Given the description of an element on the screen output the (x, y) to click on. 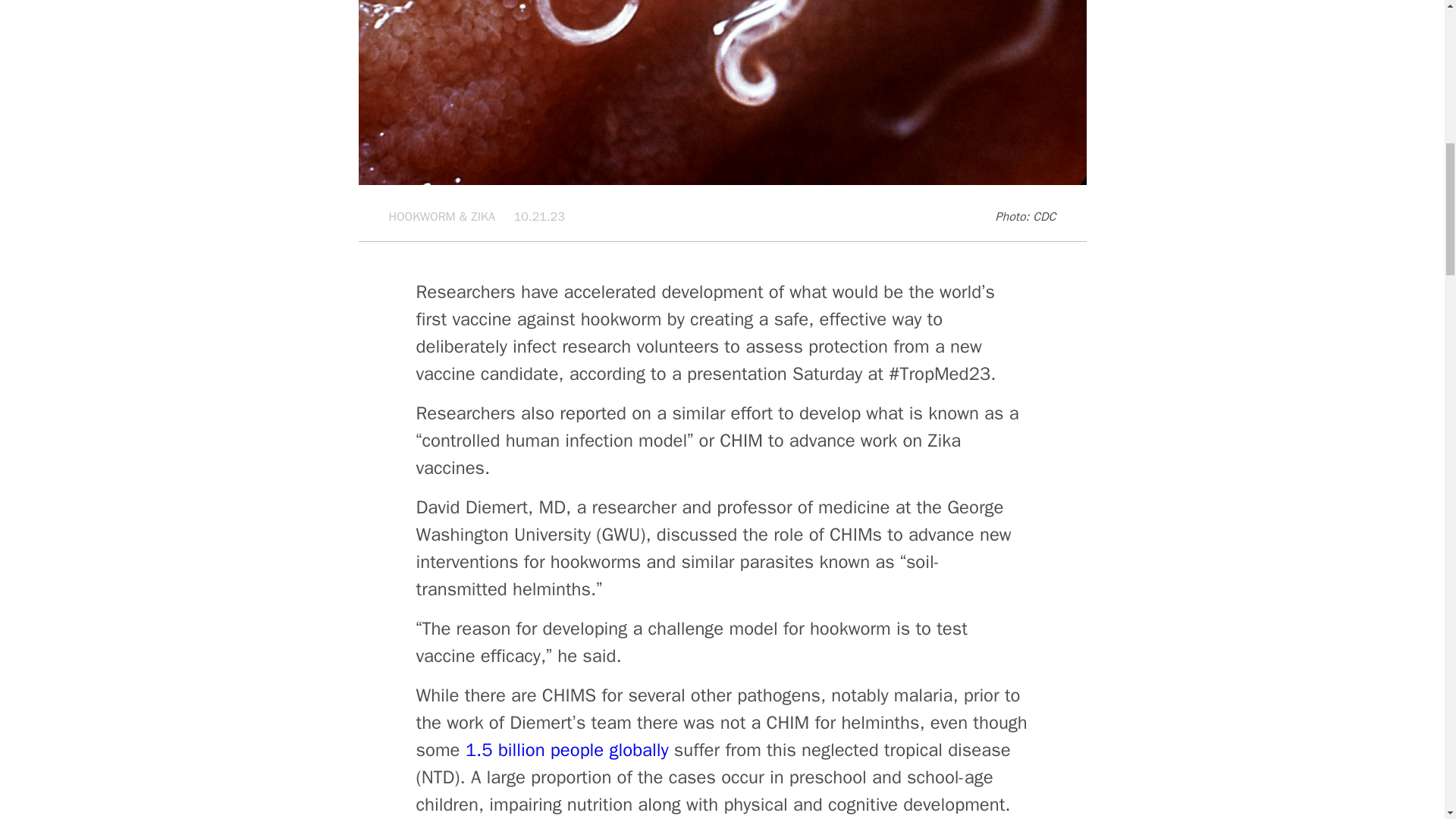
1.5 billion people globally (566, 749)
